Given the description of an element on the screen output the (x, y) to click on. 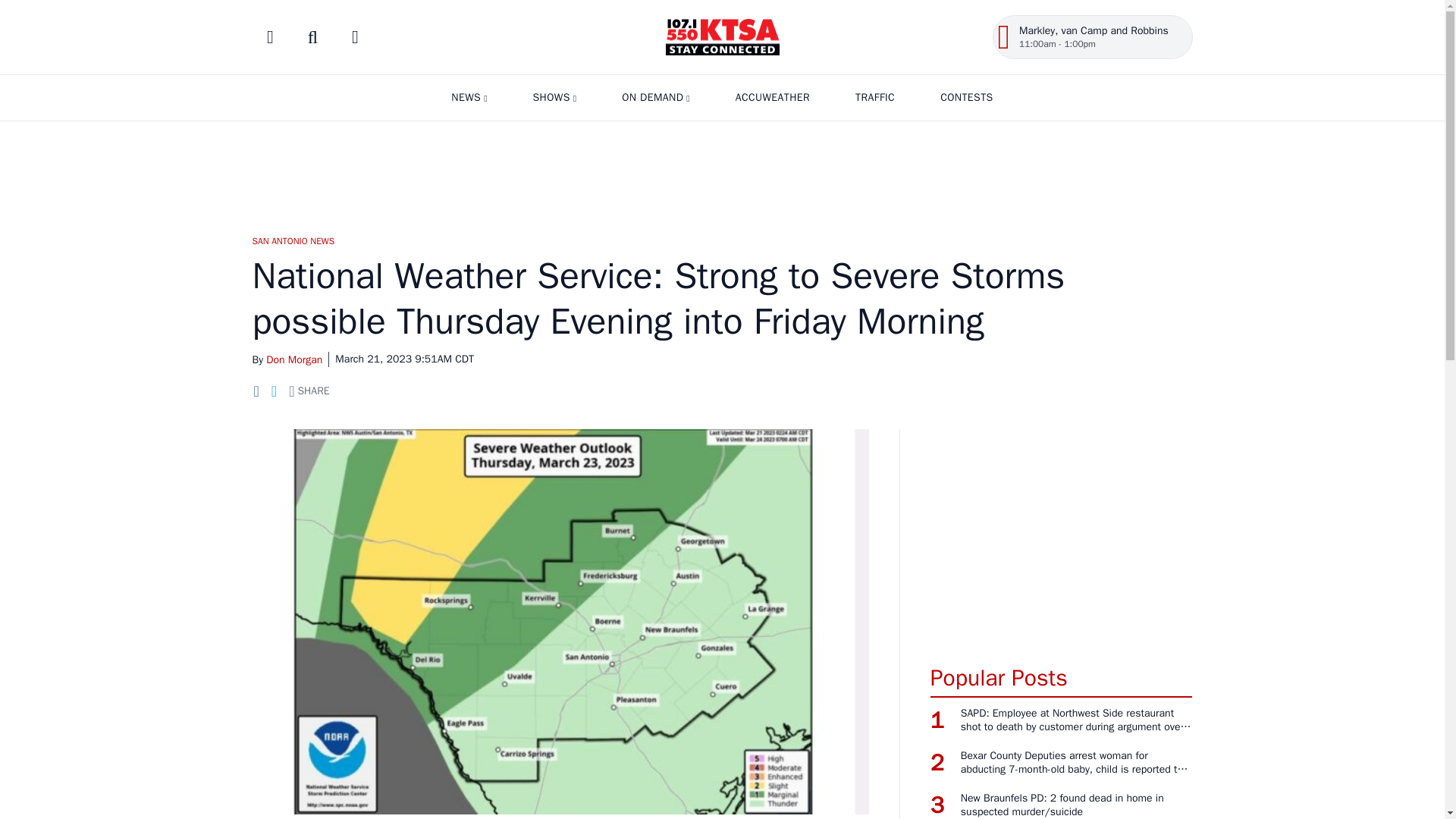
3rd party ad content (721, 170)
3rd party ad content (1060, 538)
